Given the description of an element on the screen output the (x, y) to click on. 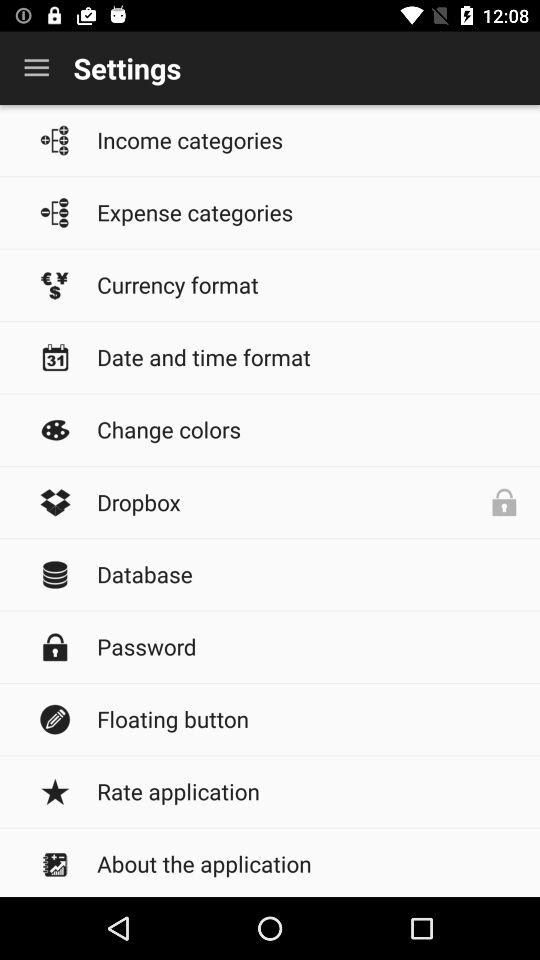
flip to expense categories (308, 212)
